Given the description of an element on the screen output the (x, y) to click on. 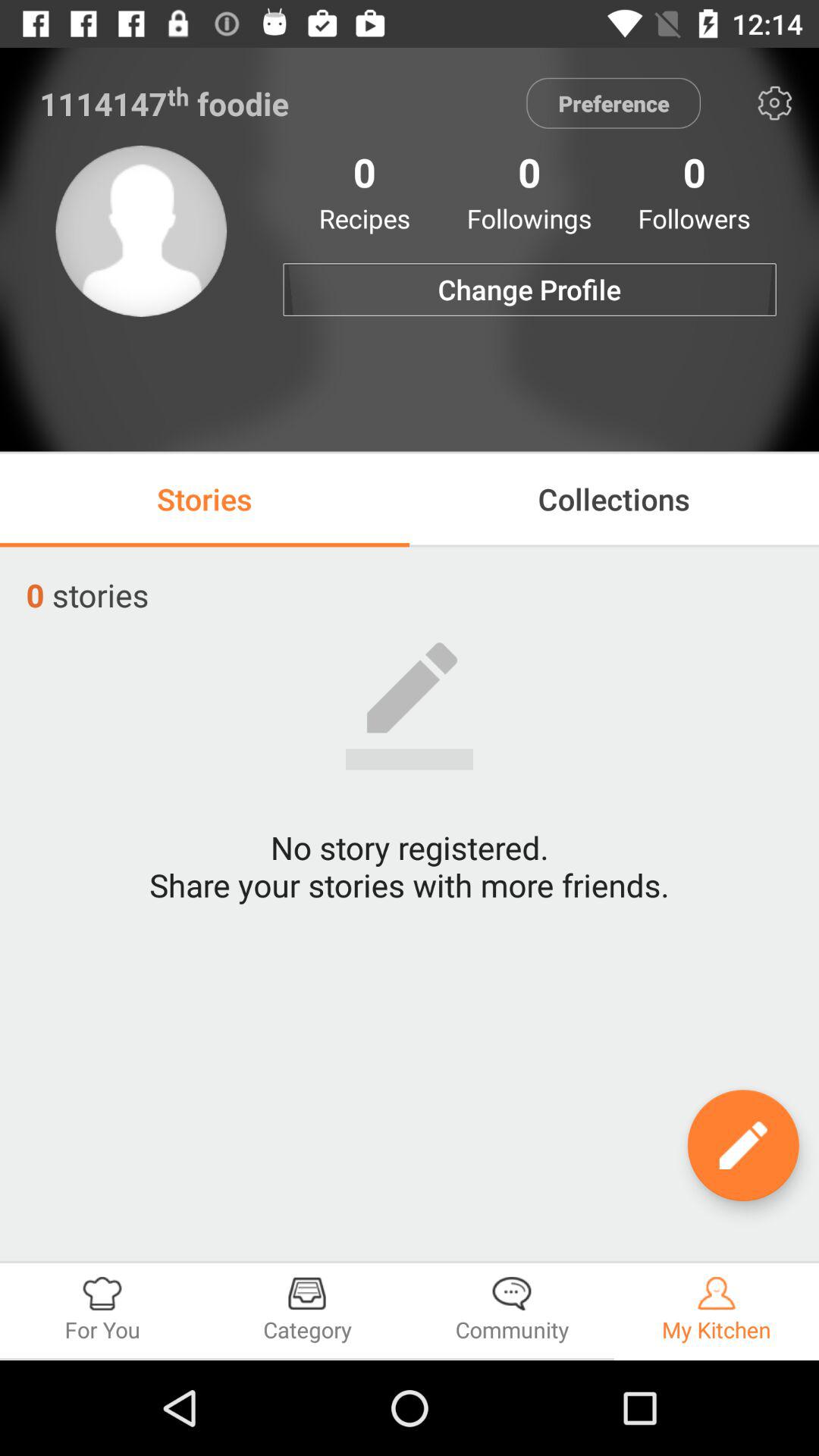
flip until the preference (613, 103)
